Given the description of an element on the screen output the (x, y) to click on. 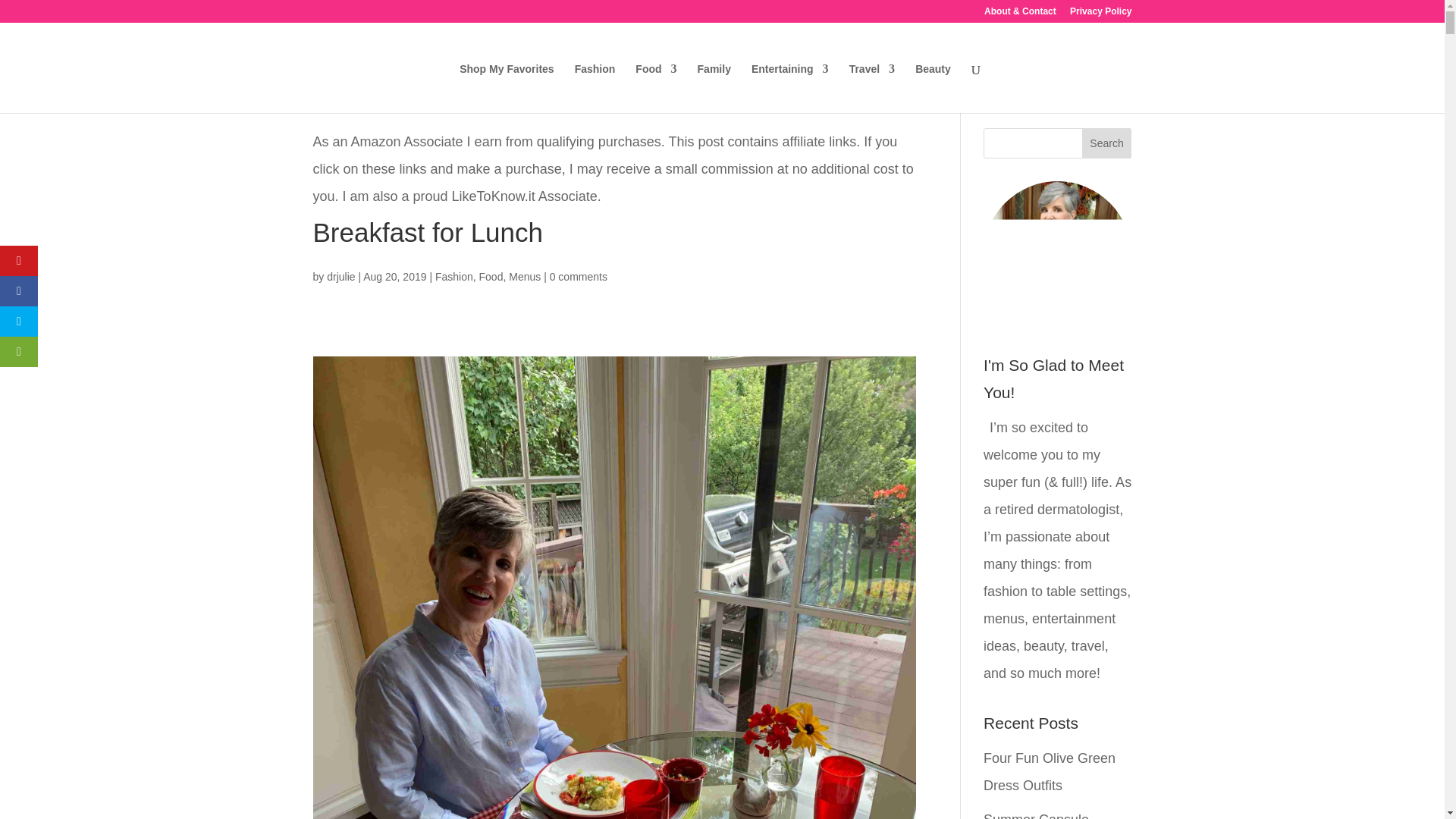
Menus (524, 275)
Fashion (454, 275)
drjulie (340, 275)
0 comments (578, 275)
Food (491, 275)
Search (1106, 142)
Privacy Policy (1100, 14)
Four Fun Olive Green Dress Outfits (1049, 772)
Shop My Favorites (506, 88)
Entertaining (789, 88)
